Given the description of an element on the screen output the (x, y) to click on. 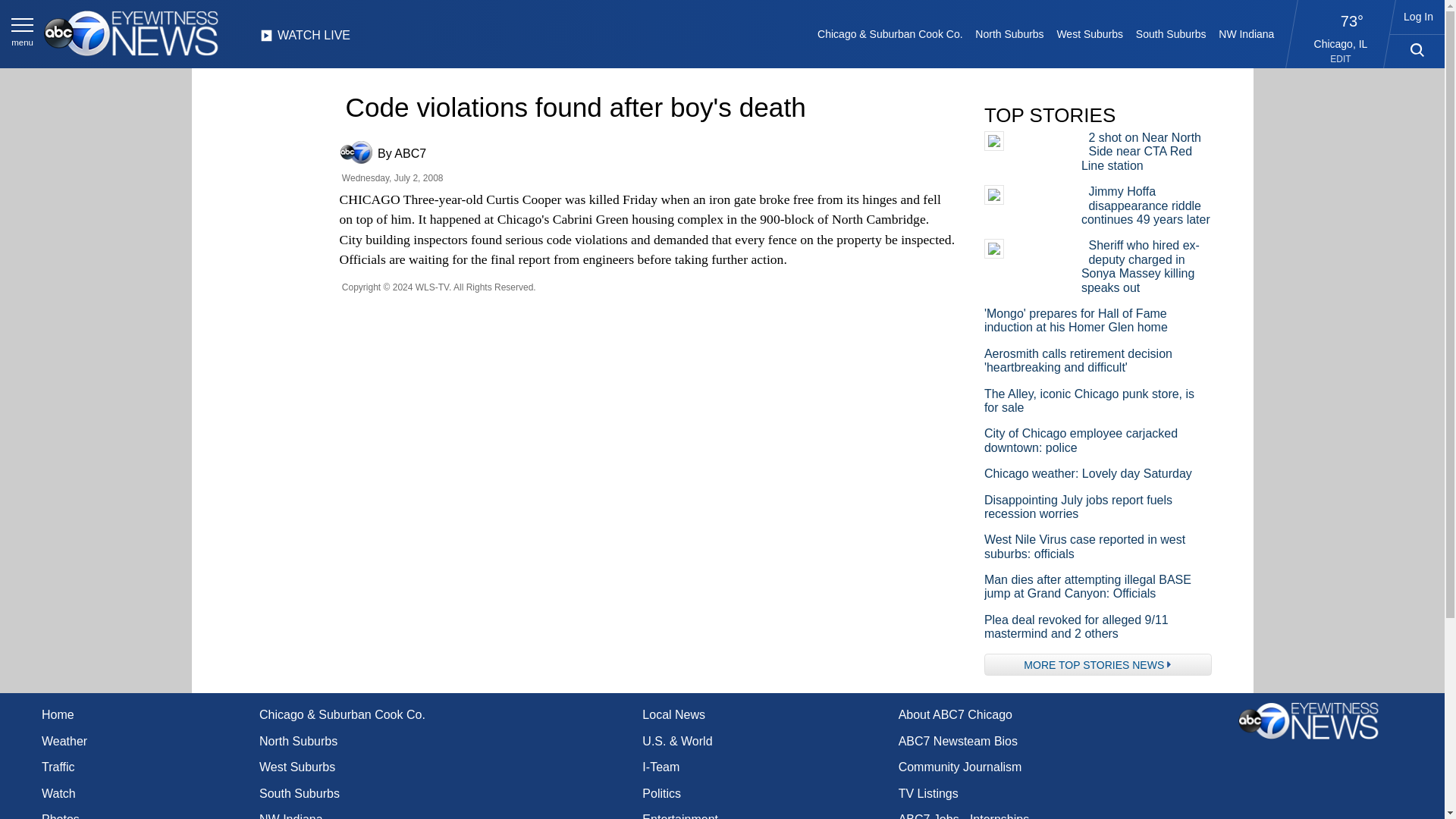
WATCH LIVE (305, 39)
West Suburbs (1089, 33)
NW Indiana (1246, 33)
Chicago, IL (1340, 43)
EDIT (1340, 59)
North Suburbs (1009, 33)
South Suburbs (1170, 33)
